Given the description of an element on the screen output the (x, y) to click on. 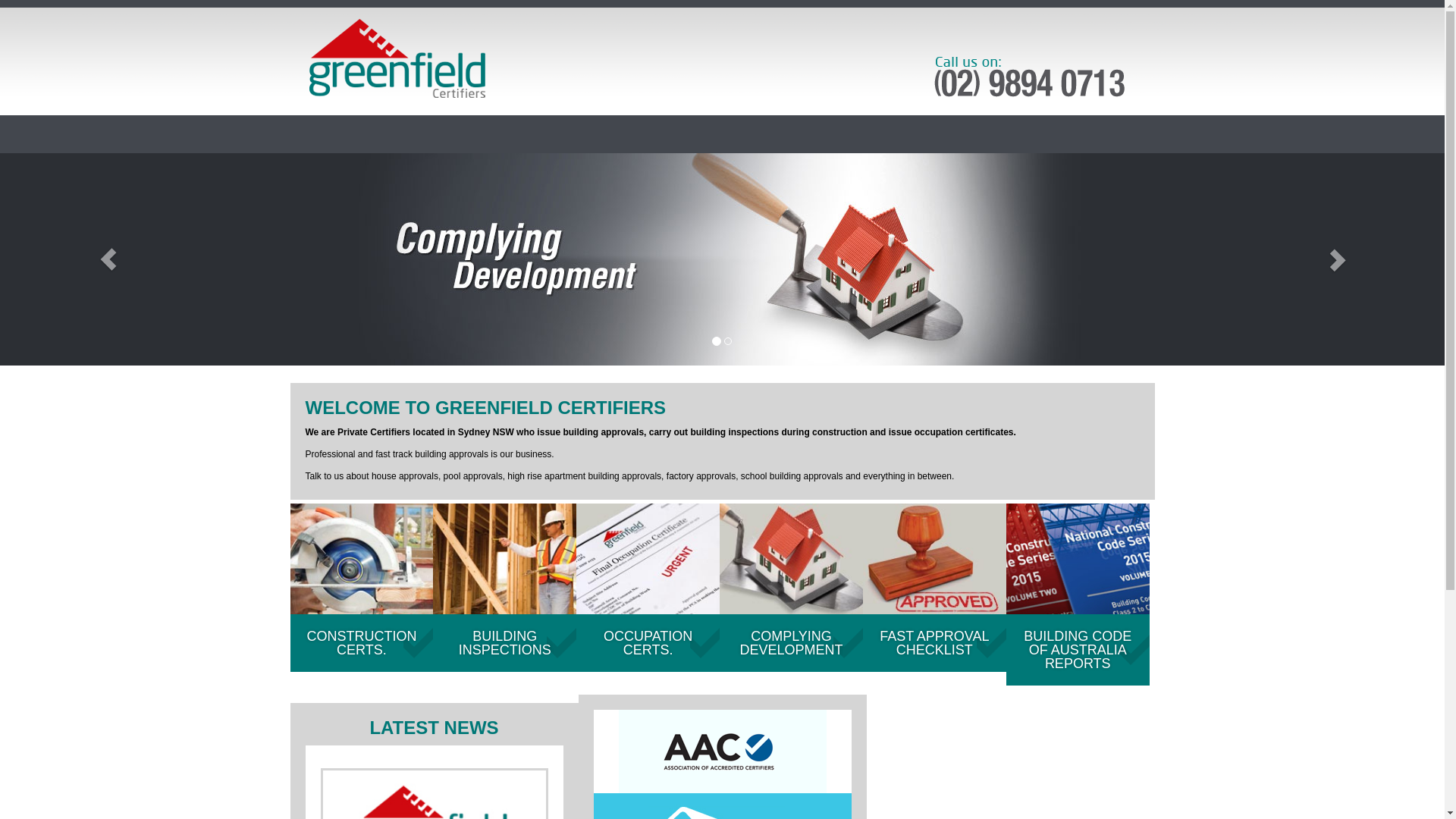
COMPLYING DEVELOPMENT Element type: text (790, 587)
BUILDING INSPECTIONS Element type: text (504, 587)
BUILDING CODE OF AUSTRALIA REPORTS Element type: text (1077, 594)
FAST APPROVAL CHECKLIST Element type: text (934, 587)
CONSTRUCTION CERTS. Element type: text (361, 587)
OCCUPATION CERTS. Element type: text (647, 587)
